Given the description of an element on the screen output the (x, y) to click on. 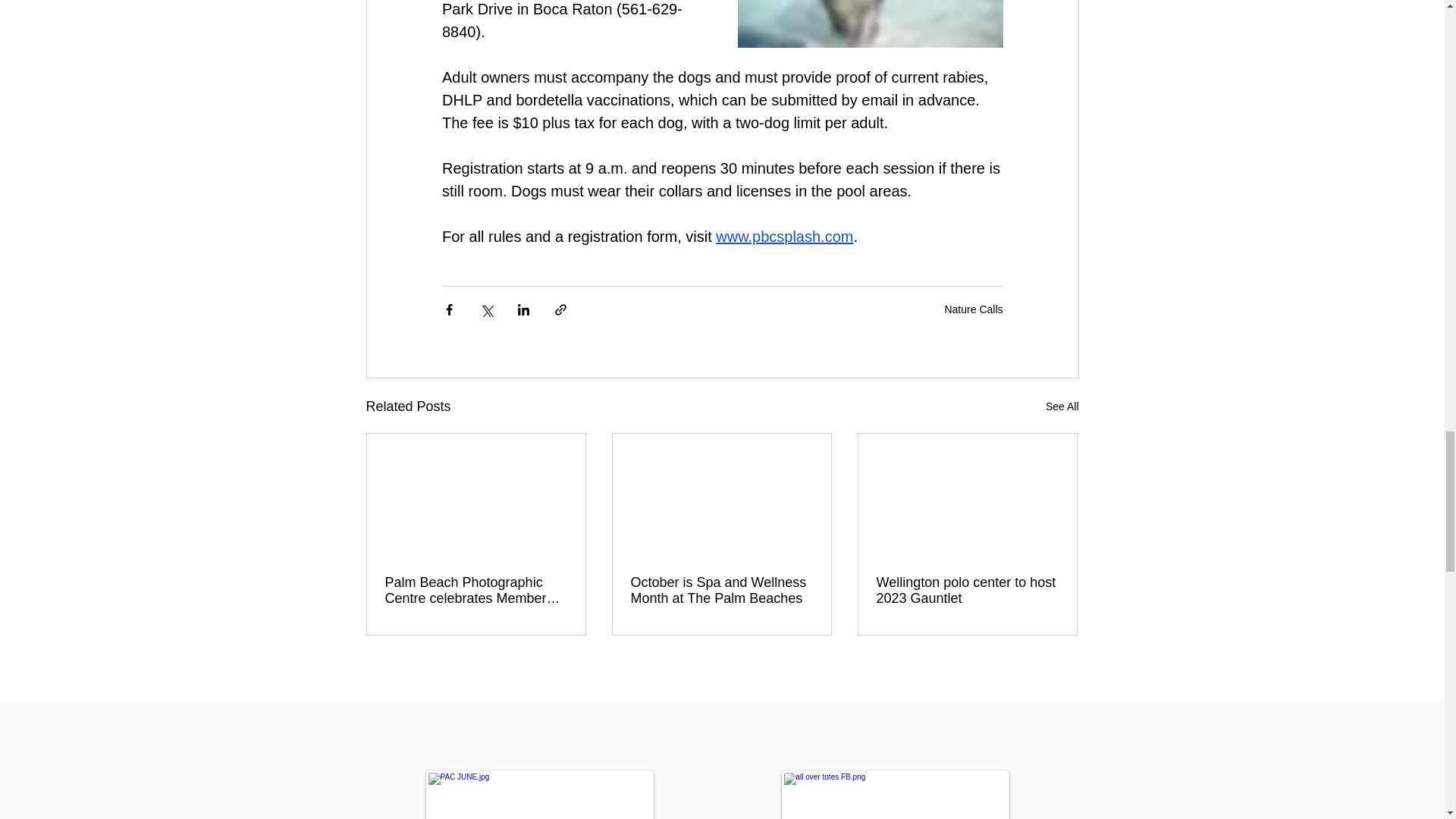
See All (1061, 406)
www.pbcsplash.com (784, 236)
Nature Calls (973, 309)
